Given the description of an element on the screen output the (x, y) to click on. 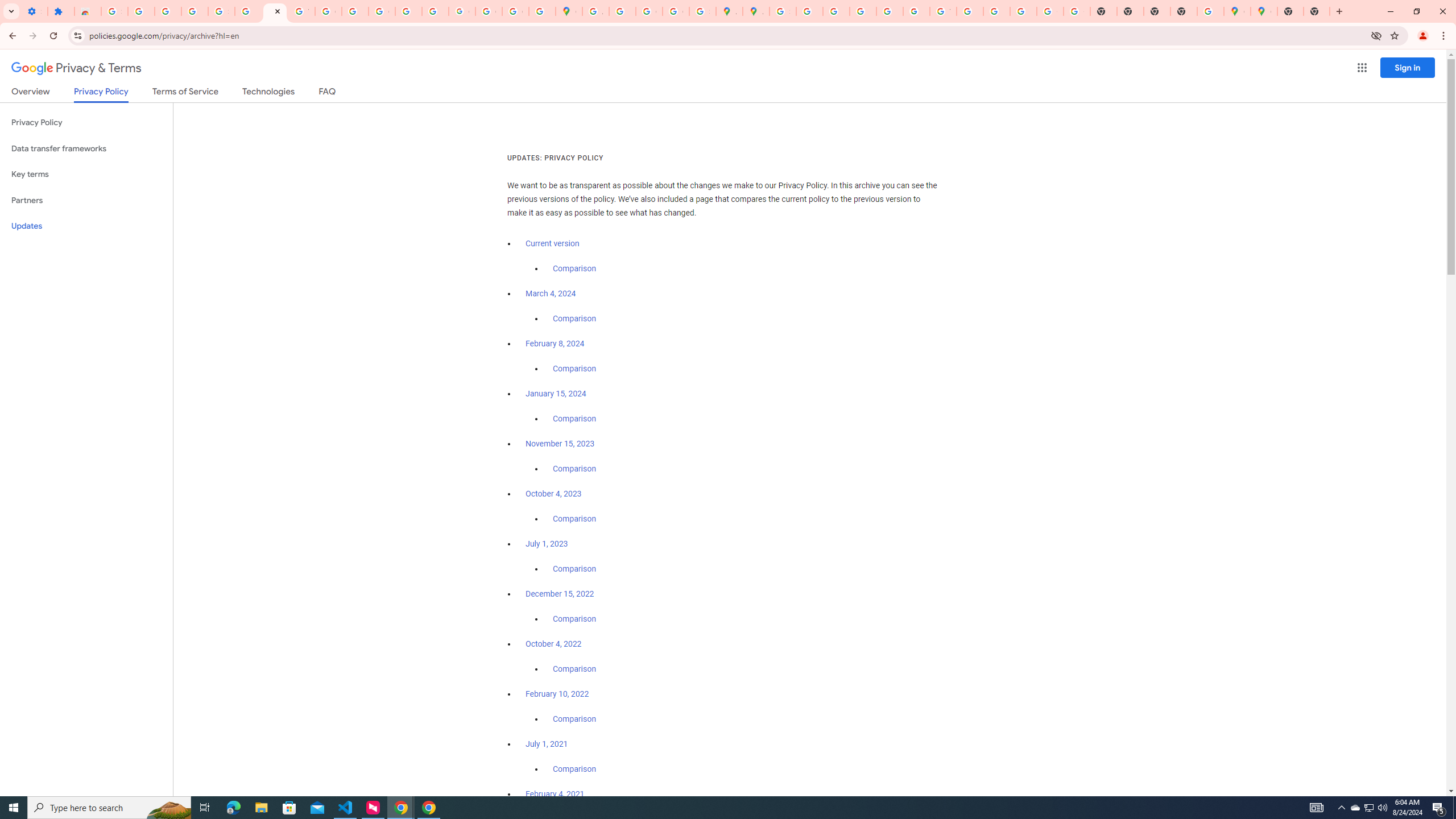
October 4, 2022 (553, 643)
Sign in - Google Accounts (221, 11)
February 10, 2022 (557, 693)
February 8, 2024 (555, 343)
March 4, 2024 (550, 293)
